Given the description of an element on the screen output the (x, y) to click on. 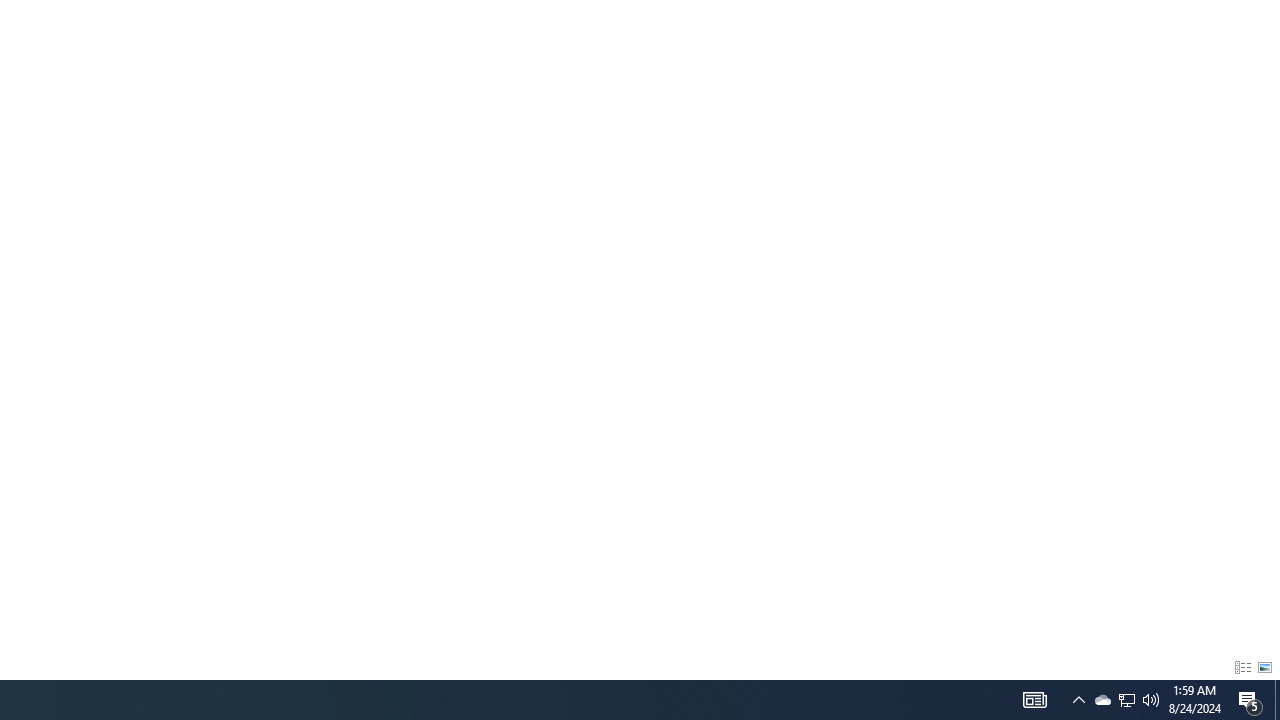
Large Icons (1265, 667)
Details (1242, 667)
